Given the description of an element on the screen output the (x, y) to click on. 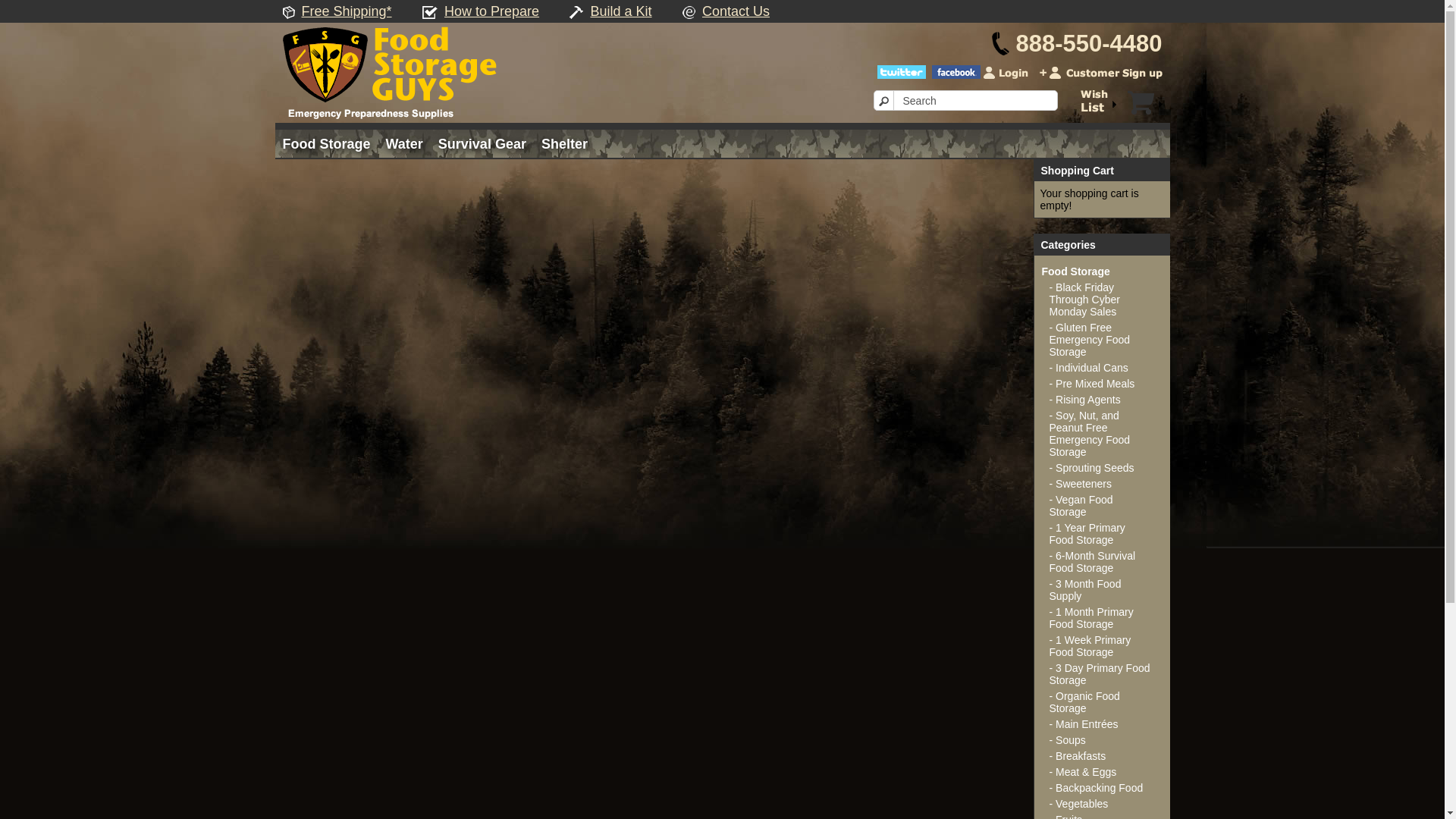
Contact Us (735, 11)
How to Prepare (491, 11)
Search (965, 100)
Build a Kit (619, 11)
Food Storage (325, 144)
